Given the description of an element on the screen output the (x, y) to click on. 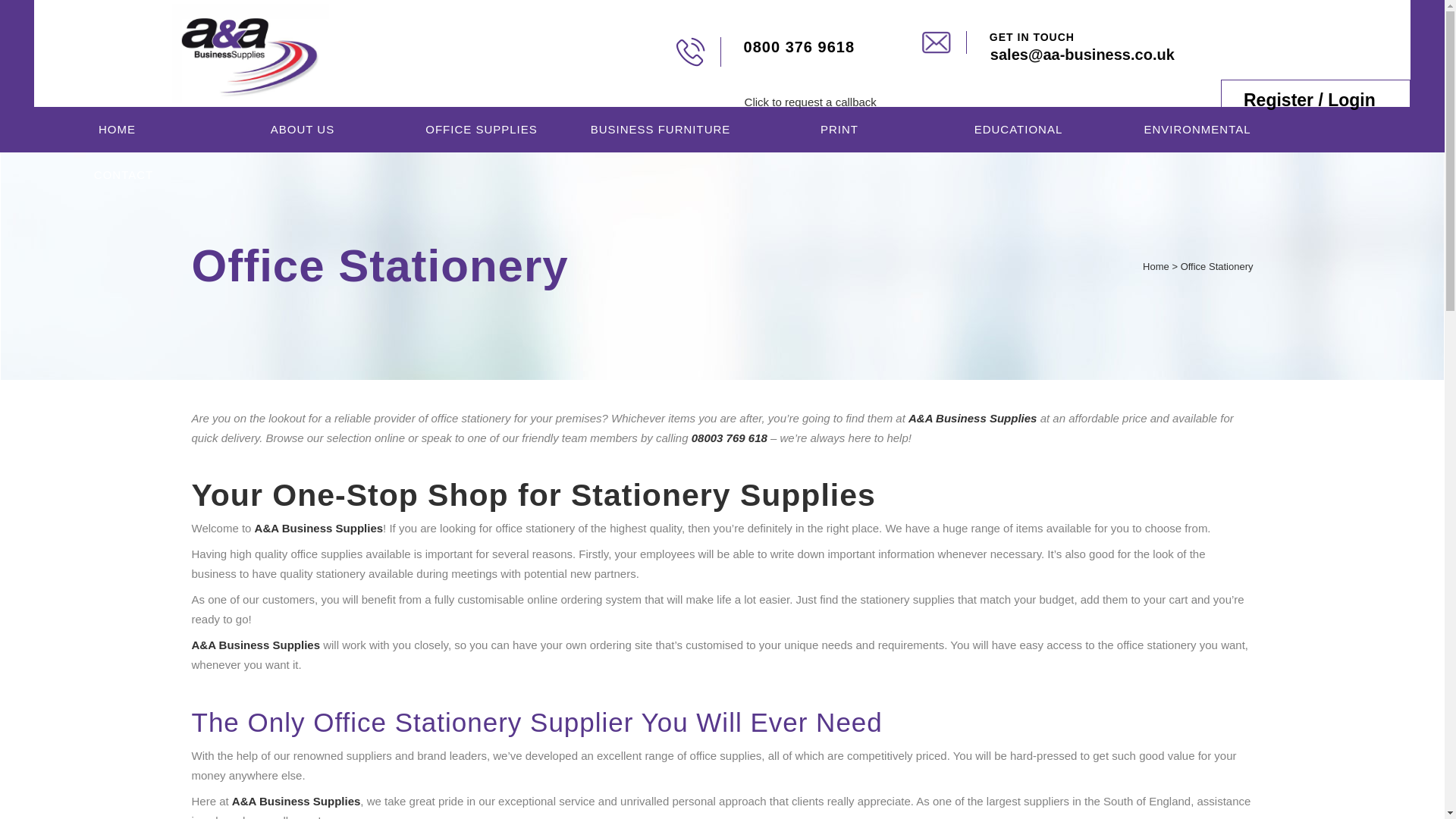
ENVIRONMENTAL (1197, 129)
Home (1155, 266)
Click to request a callback (832, 101)
CONTACT (123, 175)
PRINT (839, 129)
08003 769 618 (729, 437)
HOME (123, 129)
ABOUT US (302, 129)
EDUCATIONAL (1017, 129)
OFFICE SUPPLIES (481, 129)
BUSINESS FURNITURE (661, 129)
